Given the description of an element on the screen output the (x, y) to click on. 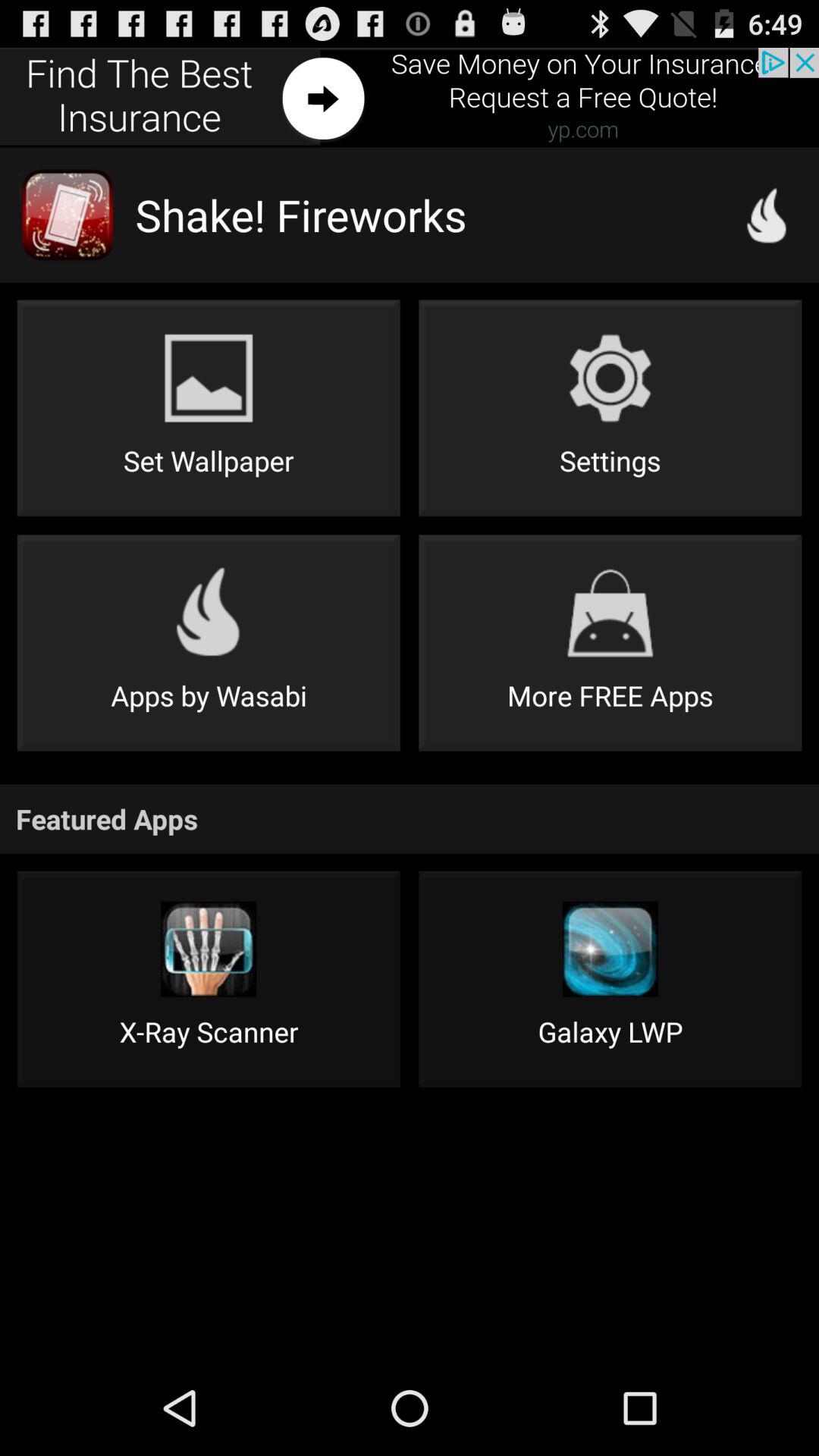
open advertisement (409, 97)
